Given the description of an element on the screen output the (x, y) to click on. 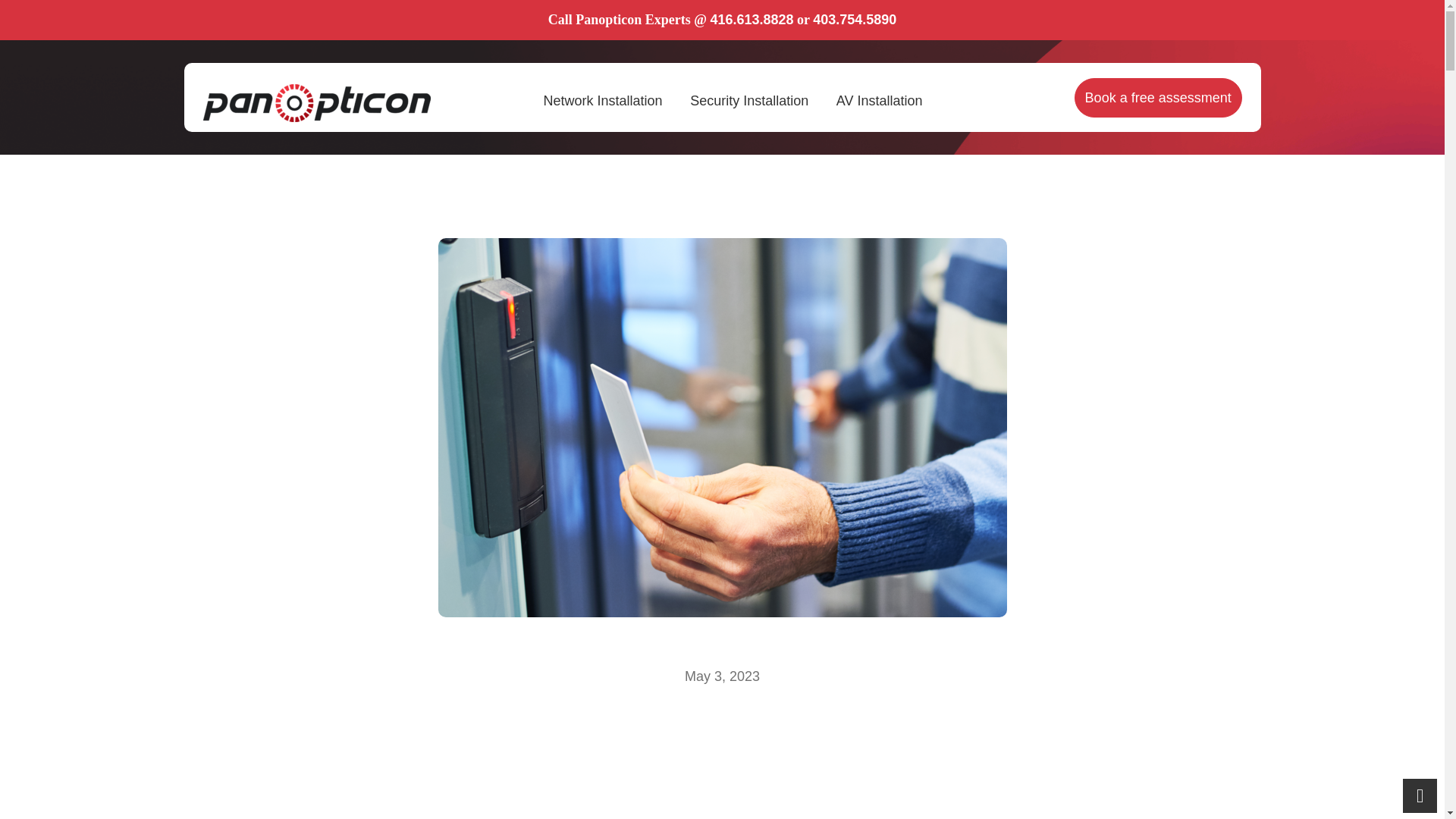
Book a free assessment (1157, 96)
AV Installation (879, 97)
403.754.5890 (854, 19)
Security Installation (749, 97)
Network Installation (602, 97)
416.613.8828 (751, 19)
